Given the description of an element on the screen output the (x, y) to click on. 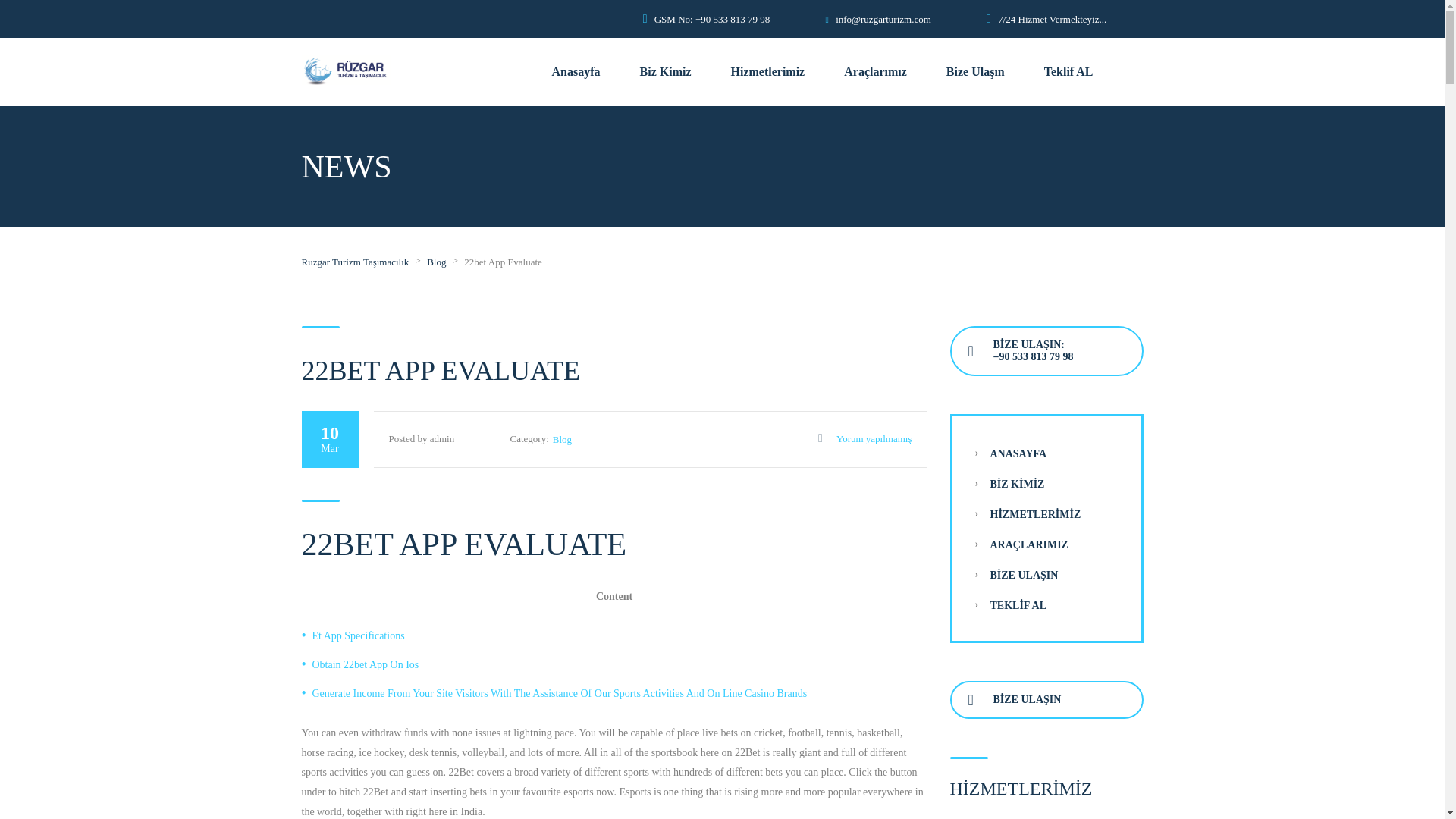
ANASAYFA (1018, 453)
Blog (562, 439)
Obtain 22bet App On Ios (366, 664)
BIZ KIMIZ (1017, 483)
Et App Specifications (358, 635)
Blog (435, 261)
Hizmetlerimiz (767, 71)
Go to the Blog category archives. (435, 261)
HIZMETLERIMIZ (1035, 514)
TEKLIF AL (1018, 604)
